Given the description of an element on the screen output the (x, y) to click on. 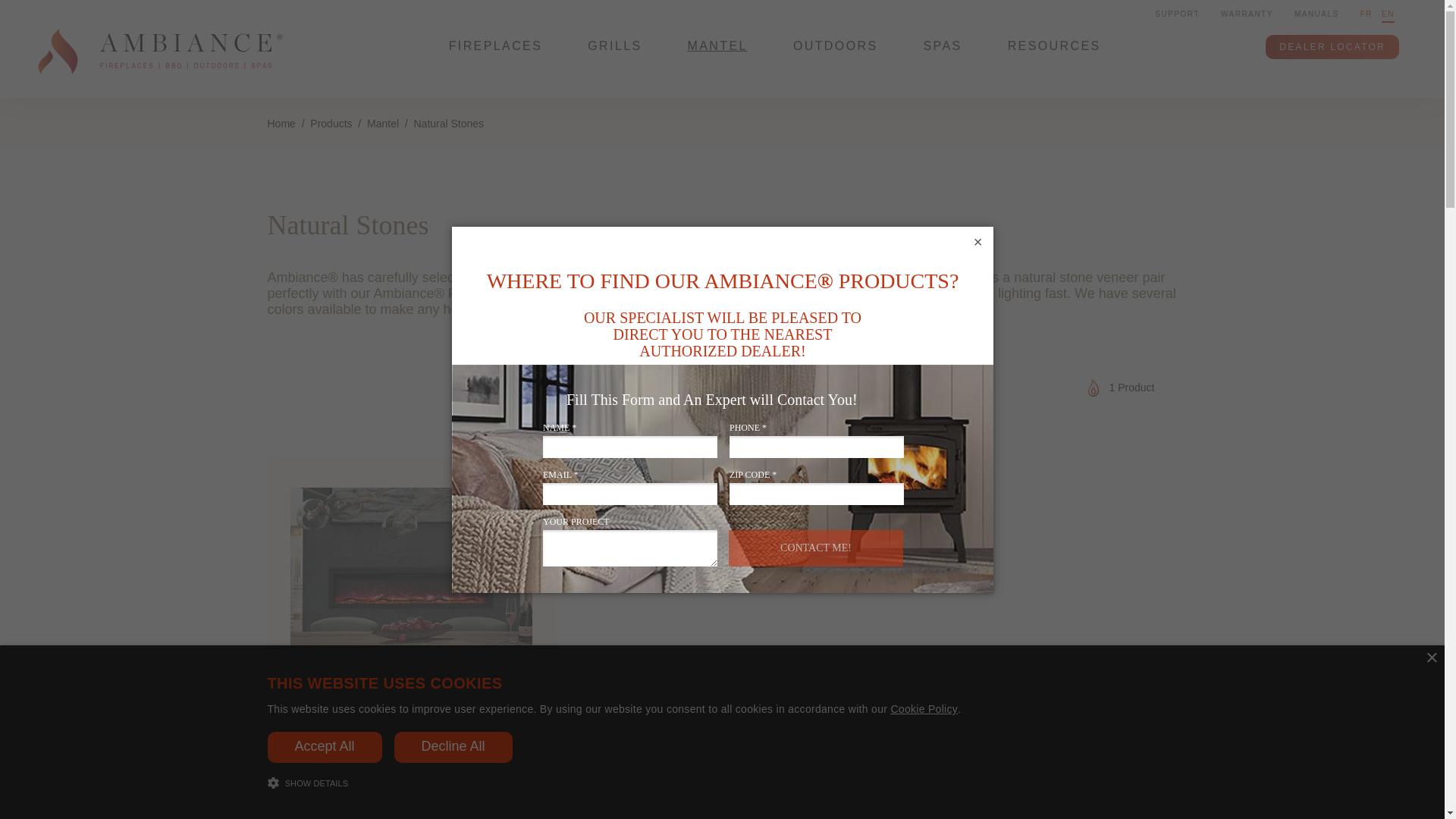
FR (1366, 13)
WARRANTY (1246, 13)
MANUALS (1316, 13)
FIREPLACES (496, 63)
SUPPORT (1177, 13)
